Given the description of an element on the screen output the (x, y) to click on. 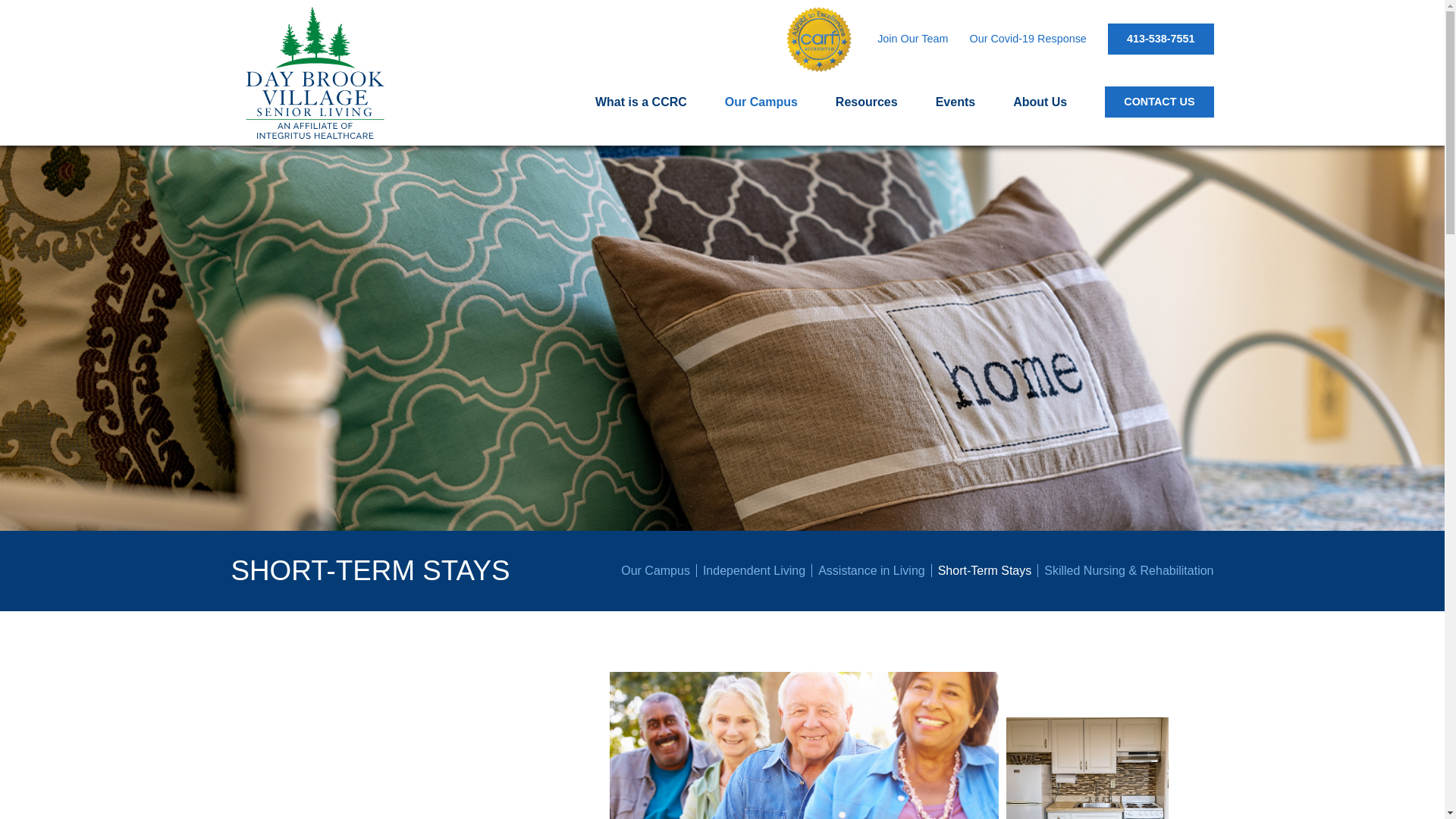
Independent Living (757, 570)
CONTACT US (1158, 102)
What is a CCRC (641, 101)
About Us (1040, 101)
Our Covid-19 Response (1027, 38)
Assistance in Living (874, 570)
Our Campus (659, 570)
Resources (866, 101)
Short-Term Stays (988, 570)
413-538-7551 (1161, 39)
Our Campus (761, 101)
Events (955, 101)
Join Our Team (912, 38)
